Given the description of an element on the screen output the (x, y) to click on. 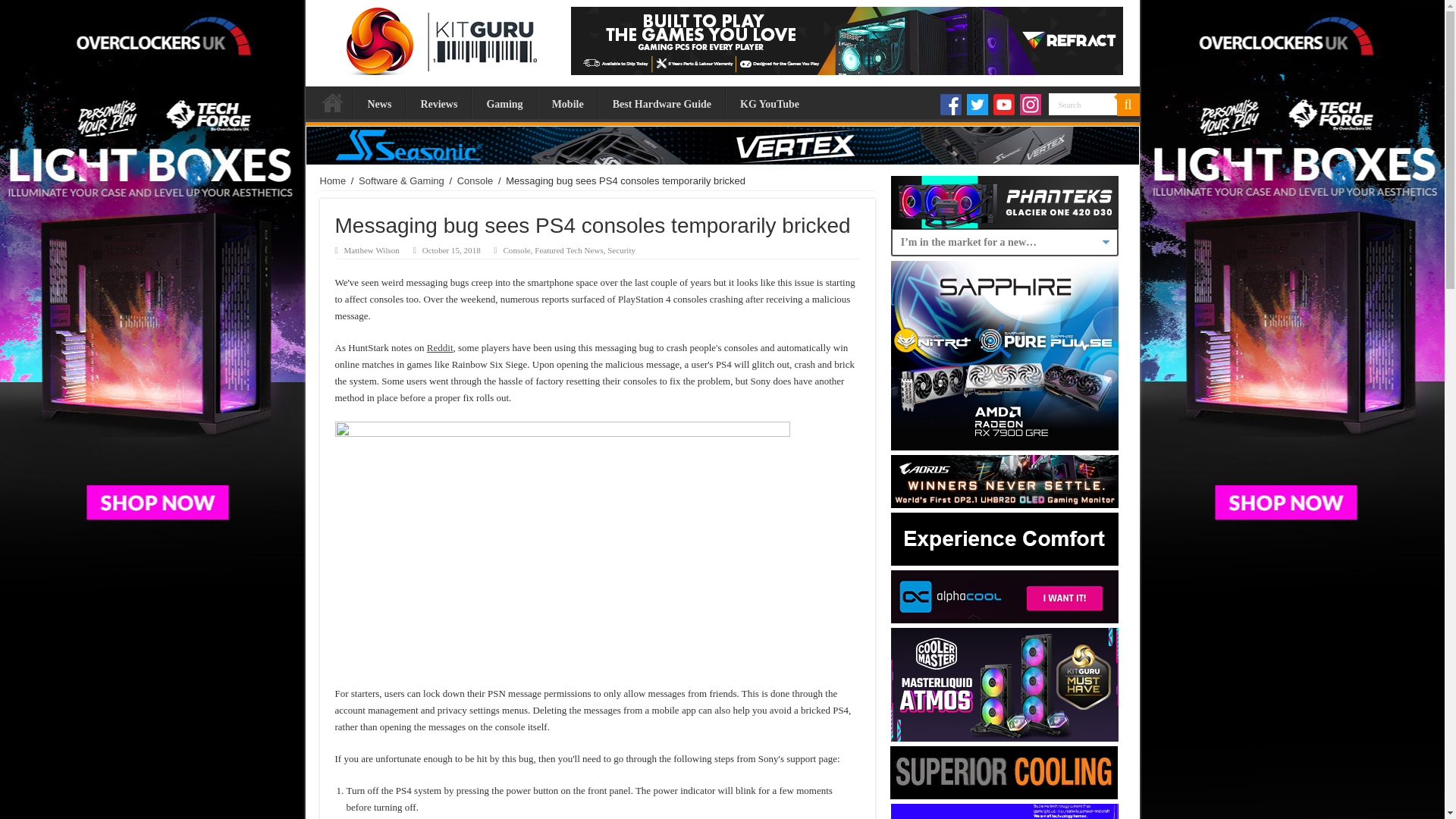
Home (332, 101)
Reviews (438, 101)
Twitter (977, 104)
Facebook (950, 104)
Instagram (1030, 104)
Mobile (566, 101)
Security (620, 249)
KG YouTube (768, 101)
Search (1127, 104)
Gaming (503, 101)
KitGuru (437, 37)
Console (517, 249)
Search (1082, 104)
News (379, 101)
Matthew Wilson (370, 249)
